Given the description of an element on the screen output the (x, y) to click on. 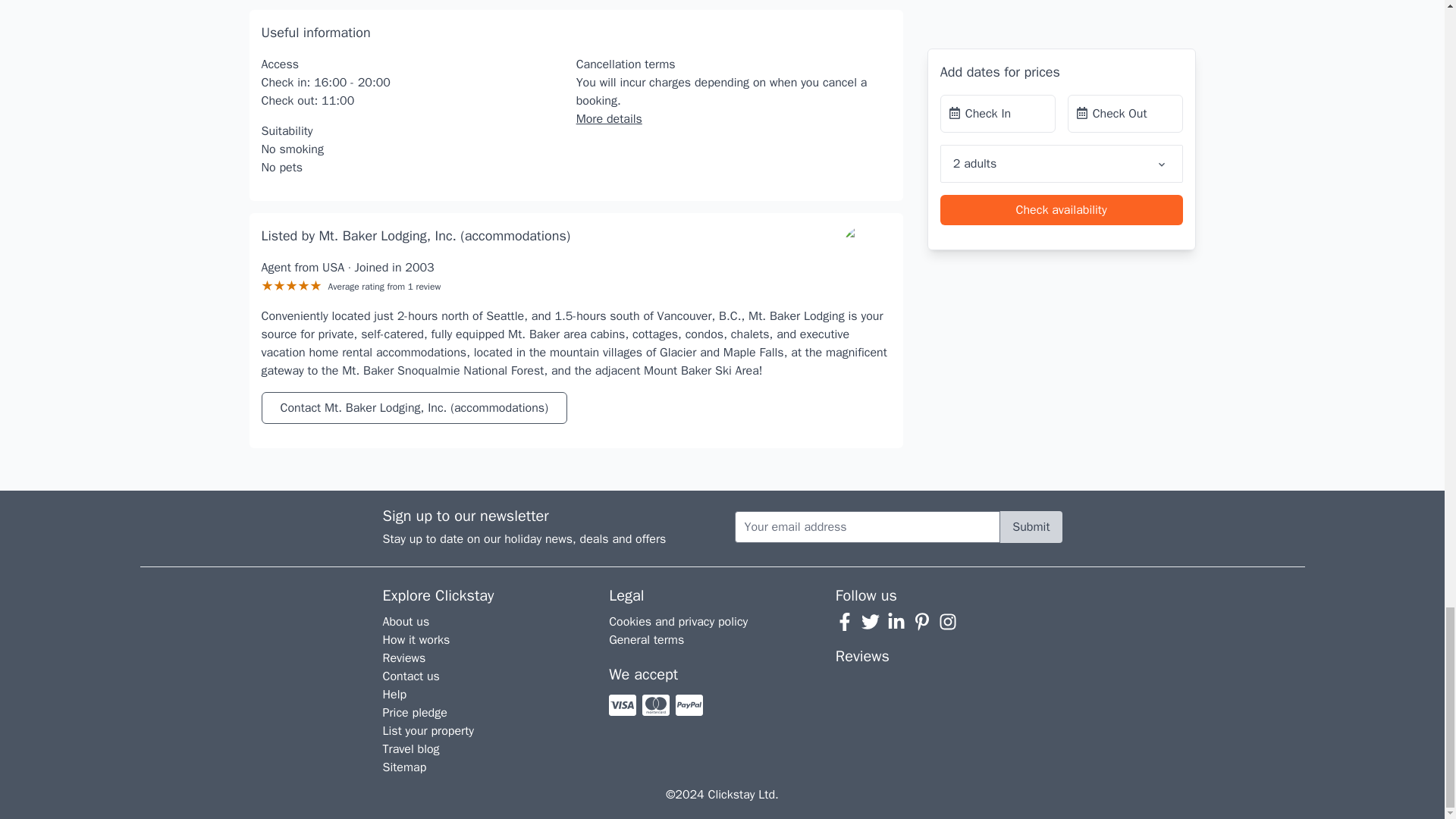
More details (609, 118)
Price pledge (414, 712)
Help (394, 694)
Submit (1030, 526)
About us (405, 621)
Contact us (410, 676)
Reviews (404, 657)
How it works (415, 639)
